Given the description of an element on the screen output the (x, y) to click on. 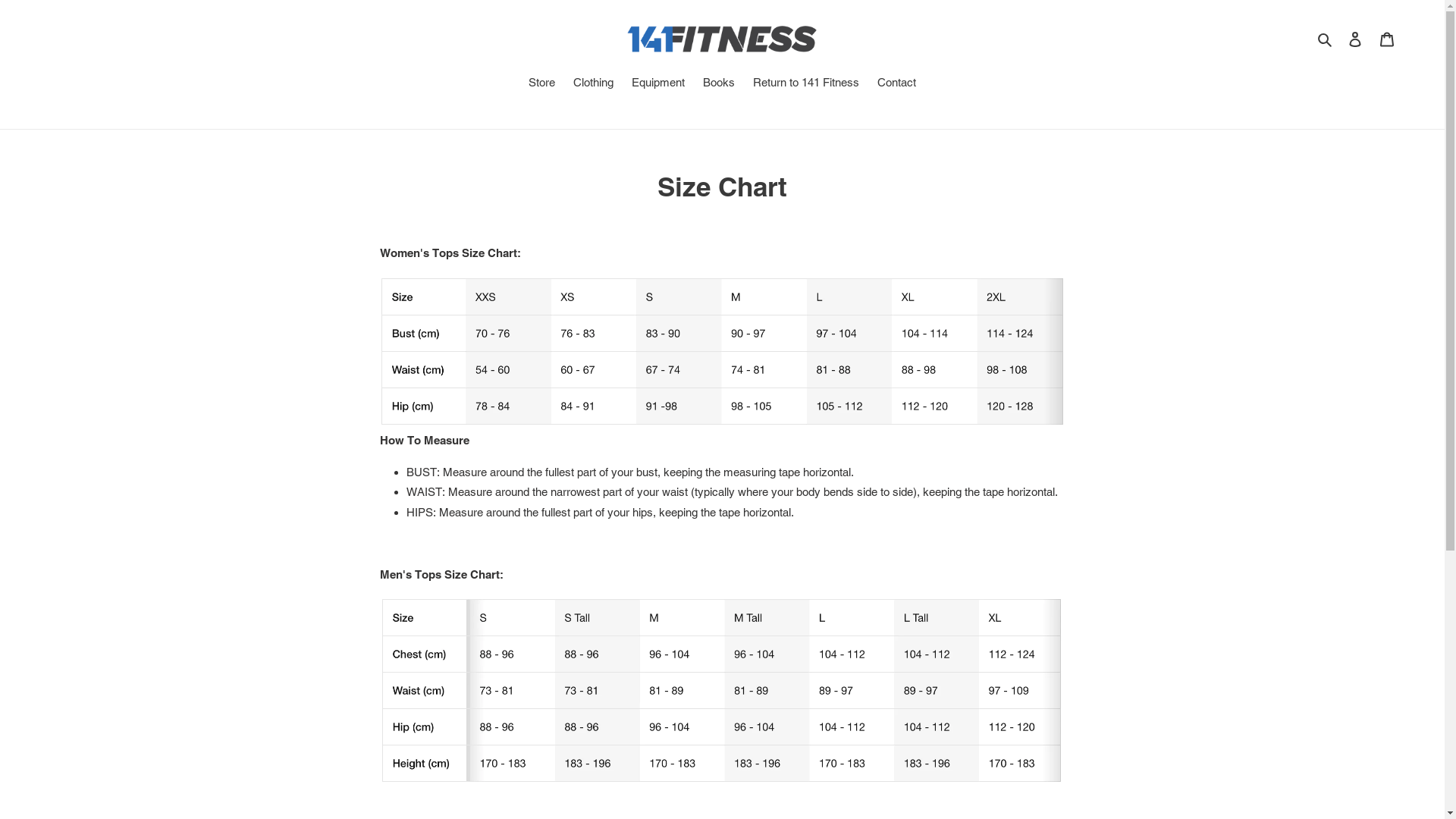
Search Element type: text (1325, 38)
Books Element type: text (718, 84)
Clothing Element type: text (593, 84)
Store Element type: text (541, 84)
Equipment Element type: text (658, 84)
Log in Element type: text (1355, 38)
Contact Element type: text (896, 84)
Cart Element type: text (1386, 38)
Return to 141 Fitness Element type: text (805, 84)
